Given the description of an element on the screen output the (x, y) to click on. 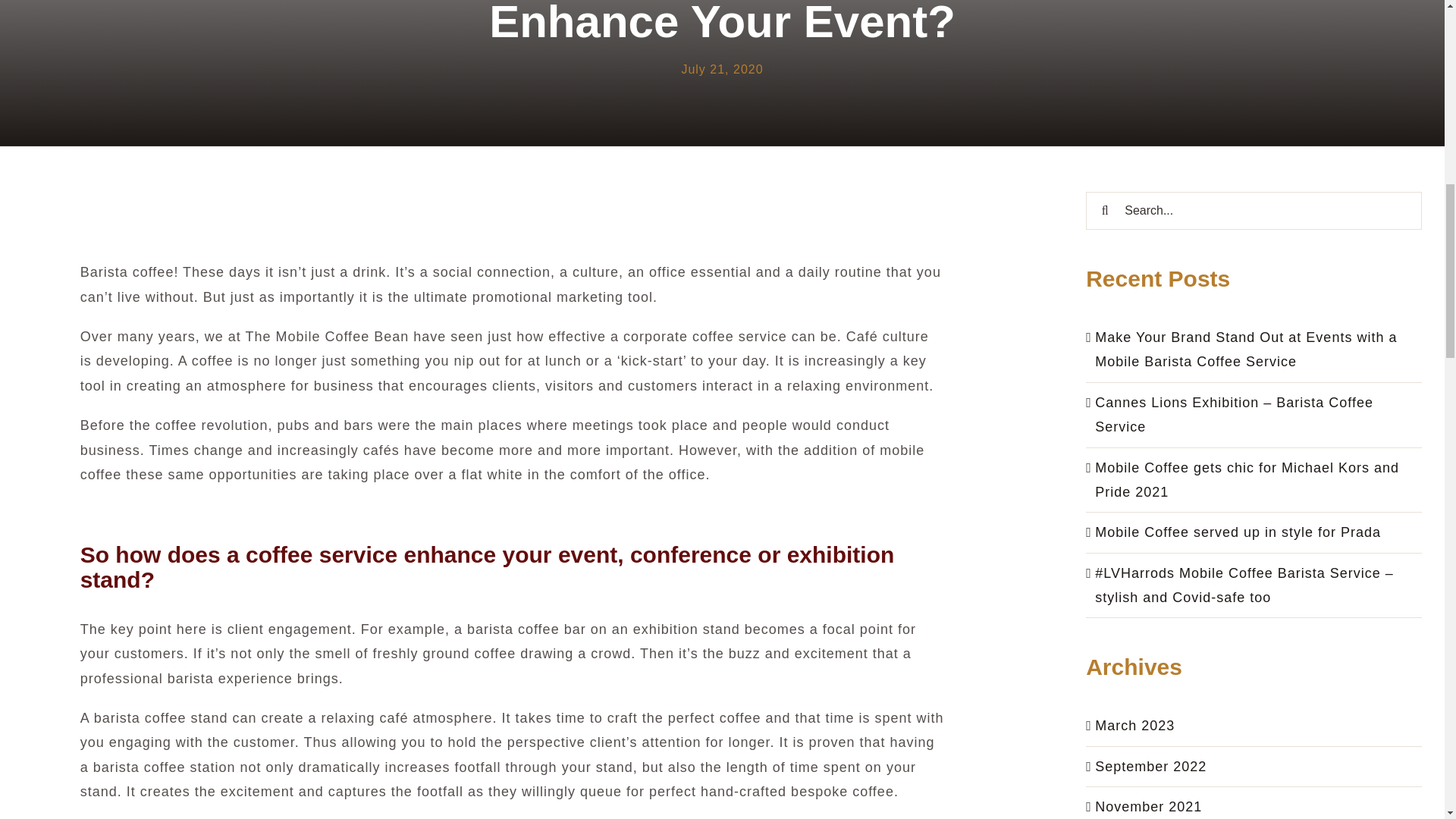
September 2022 (1150, 766)
March 2023 (1134, 725)
Mobile Coffee served up in style for Prada (1237, 531)
Mobile Coffee gets chic for Michael Kors and Pride 2021 (1246, 479)
November 2021 (1148, 806)
